Given the description of an element on the screen output the (x, y) to click on. 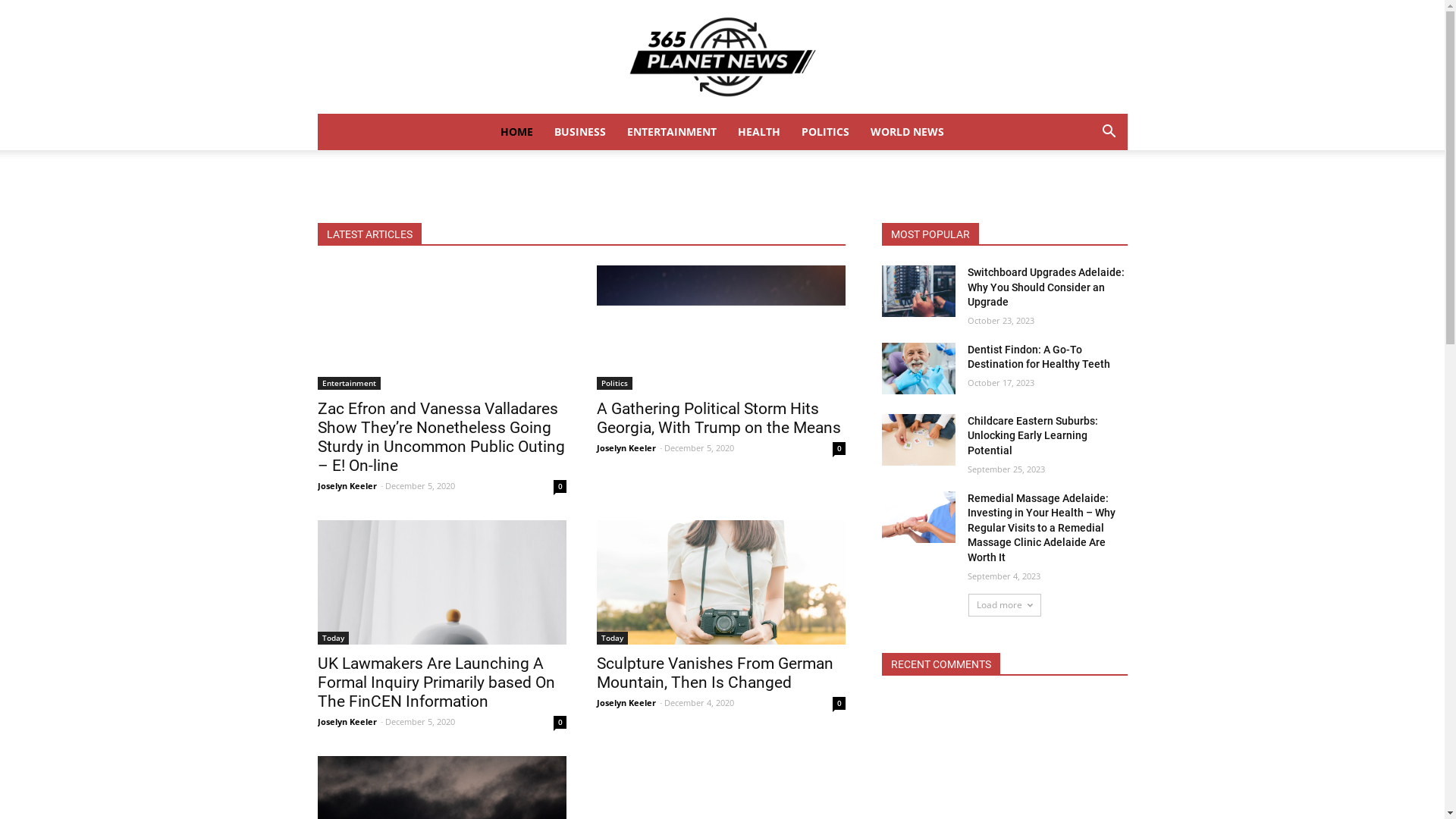
Load more Element type: text (1003, 604)
0 Element type: text (559, 721)
Dentist Findon: A Go-To Destination for Healthy Teeth Element type: text (1038, 356)
Joselyn Keeler Element type: text (346, 485)
Joselyn Keeler Element type: text (346, 721)
0 Element type: text (838, 448)
0 Element type: text (559, 486)
POLITICS Element type: text (824, 131)
WORLD NEWS Element type: text (906, 131)
Sculpture Vanishes From German Mountain, Then Is Changed Element type: text (714, 672)
365 Planet News Live Element type: text (722, 56)
Joselyn Keeler Element type: text (625, 447)
Sculpture Vanishes From German Mountain, Then Is Changed Element type: hover (720, 582)
ENTERTAINMENT Element type: text (671, 131)
HOME Element type: text (516, 131)
0 Element type: text (838, 702)
Entertainment Element type: text (347, 382)
Joselyn Keeler Element type: text (625, 702)
Today Element type: text (332, 637)
HEALTH Element type: text (758, 131)
Dentist Findon: A Go-To Destination for Healthy Teeth Element type: hover (917, 368)
Politics Element type: text (613, 382)
Today Element type: text (611, 637)
Search Element type: text (1085, 192)
BUSINESS Element type: text (579, 131)
